Given the description of an element on the screen output the (x, y) to click on. 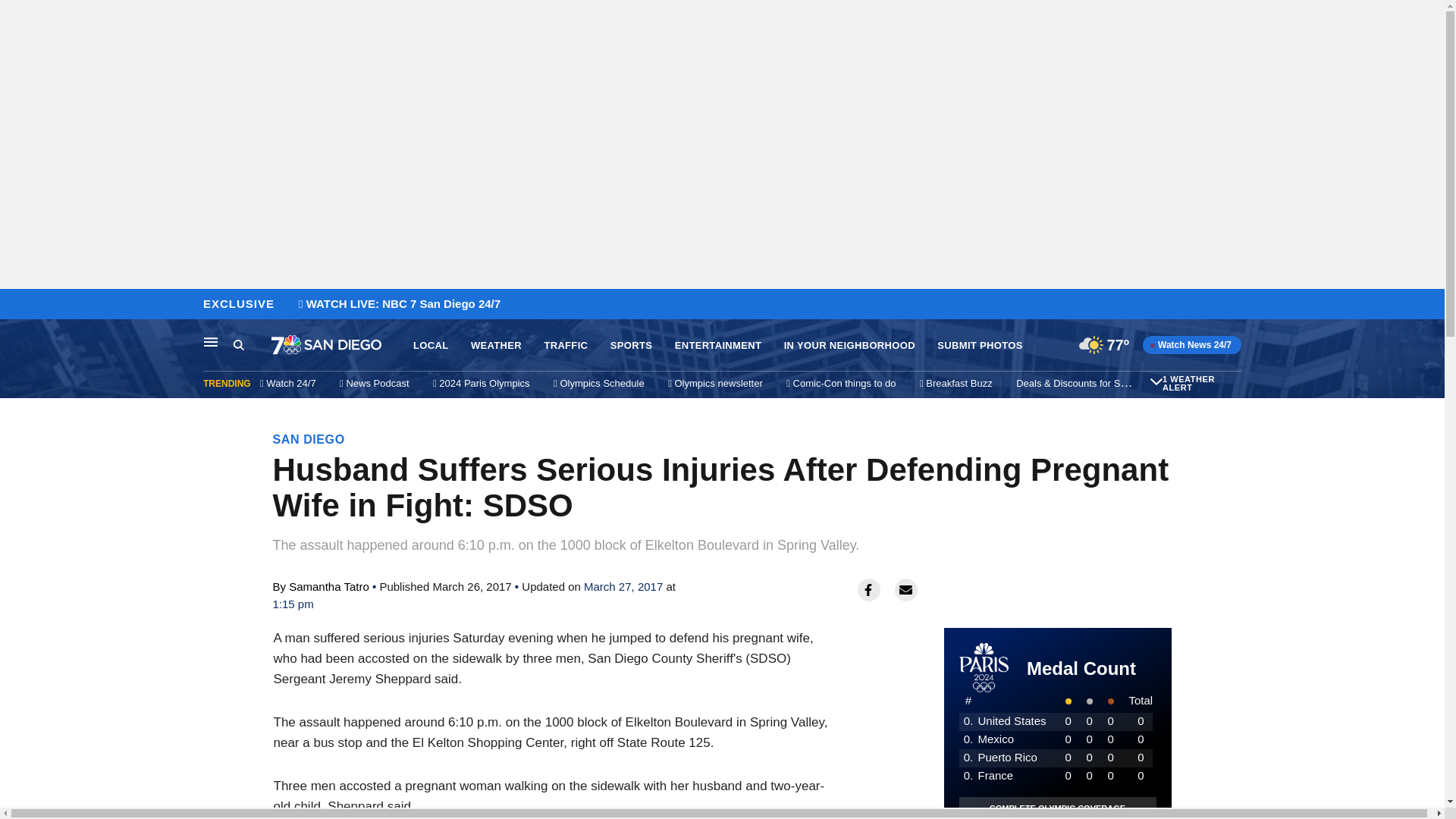
TRAFFIC (565, 345)
IN YOUR NEIGHBORHOOD (849, 345)
WEATHER (495, 345)
1 WEATHER ALERT (1199, 383)
Main Navigation (210, 341)
SAN DIEGO (309, 439)
COMPLETE OLYMPIC COVERAGE (1057, 807)
Search (252, 345)
LOCAL (430, 345)
SPORTS (631, 345)
Expand (1155, 381)
SUBMIT PHOTOS (979, 345)
ENTERTAINMENT (718, 345)
Skip to content (16, 304)
Search (238, 344)
